Given the description of an element on the screen output the (x, y) to click on. 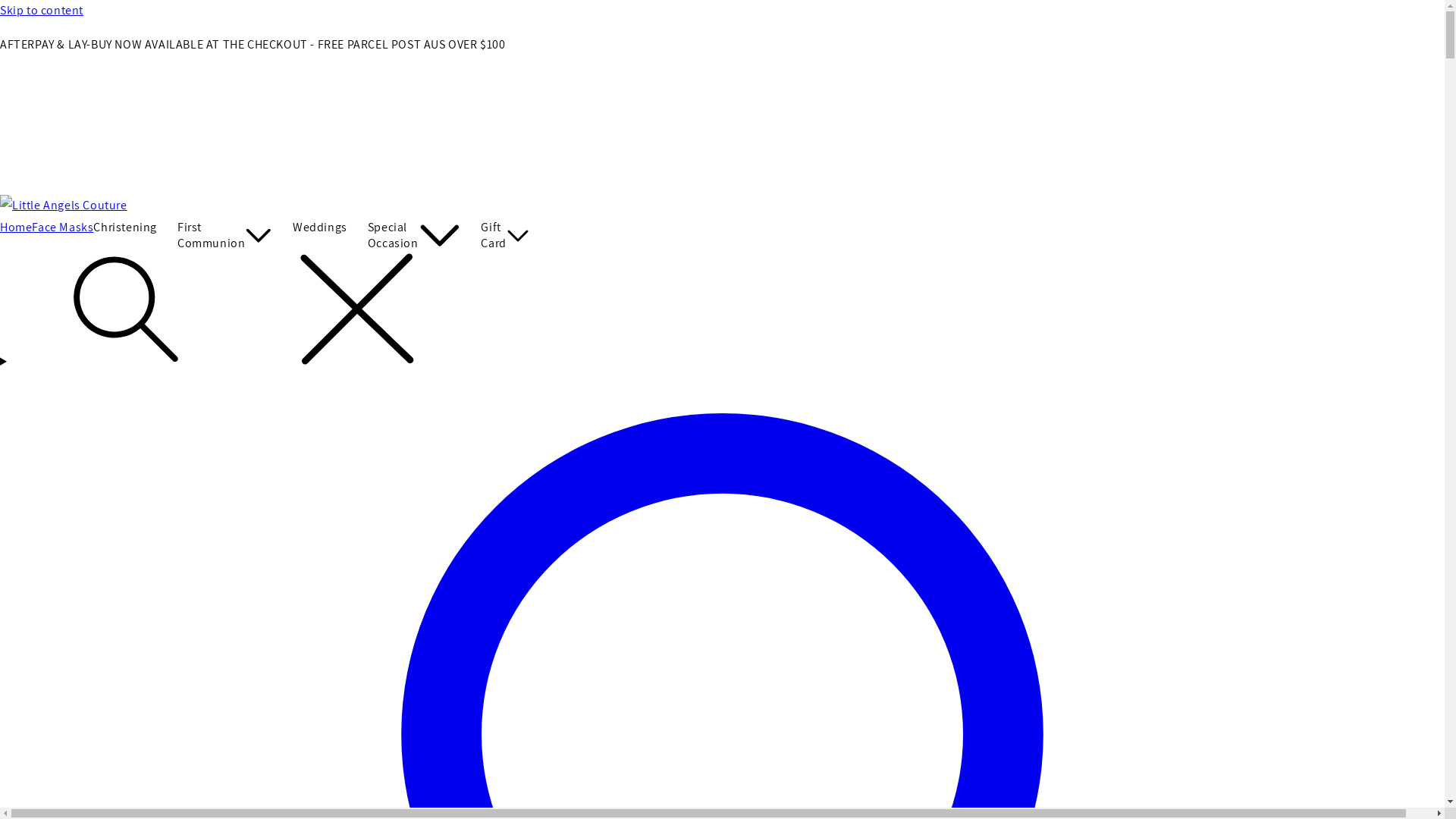
Skip to content Element type: text (722, 10)
Home Element type: text (15, 227)
Face Masks Element type: text (62, 227)
